Given the description of an element on the screen output the (x, y) to click on. 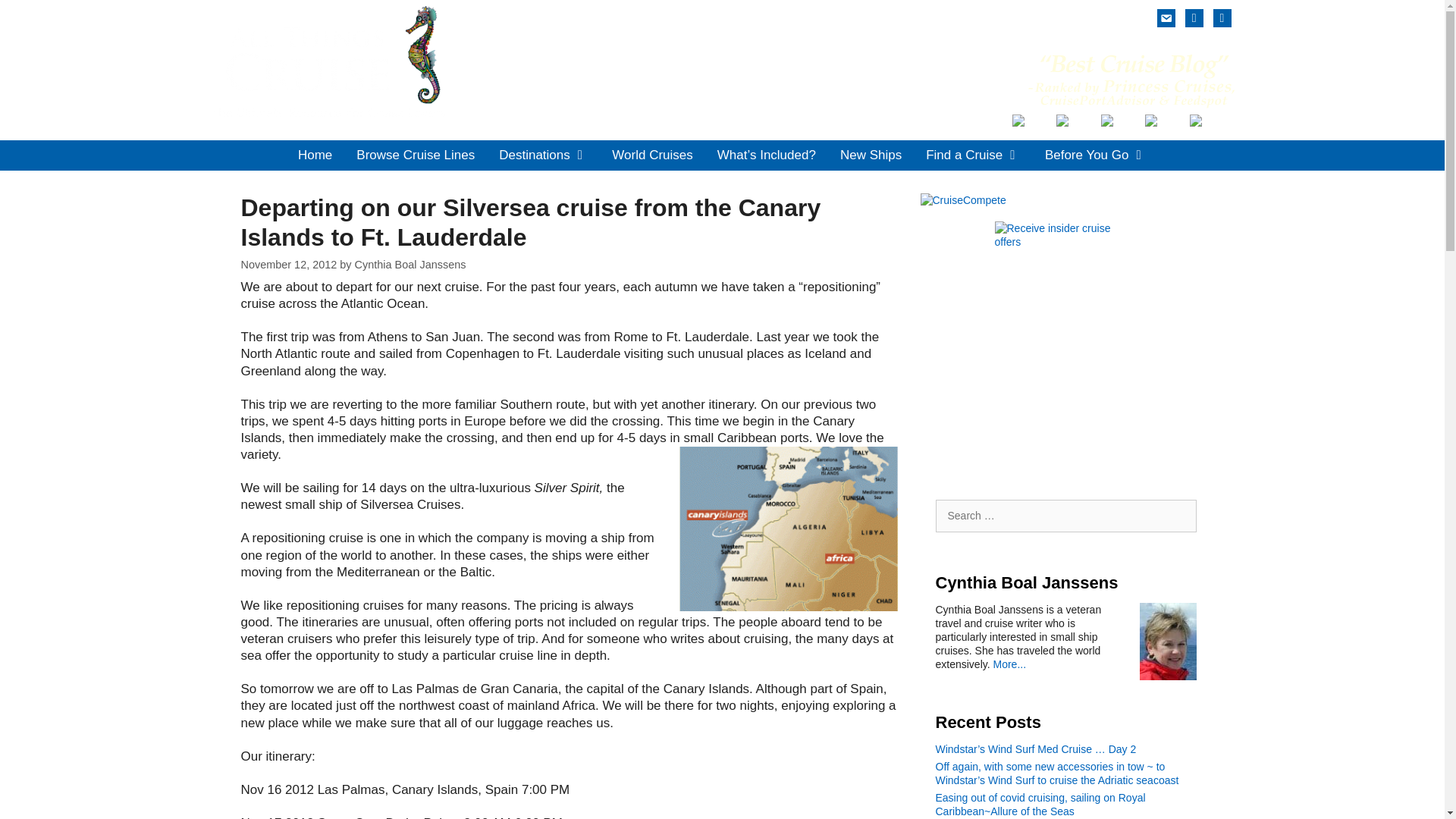
Twitter (1221, 16)
New Ships (871, 155)
Find a Cruise (973, 155)
World Cruises (651, 155)
Home (314, 155)
x (1221, 16)
Browse Cruise Lines (414, 155)
email (1165, 16)
facebook (1194, 16)
View all posts by Cynthia Boal Janssens (410, 264)
